Given the description of an element on the screen output the (x, y) to click on. 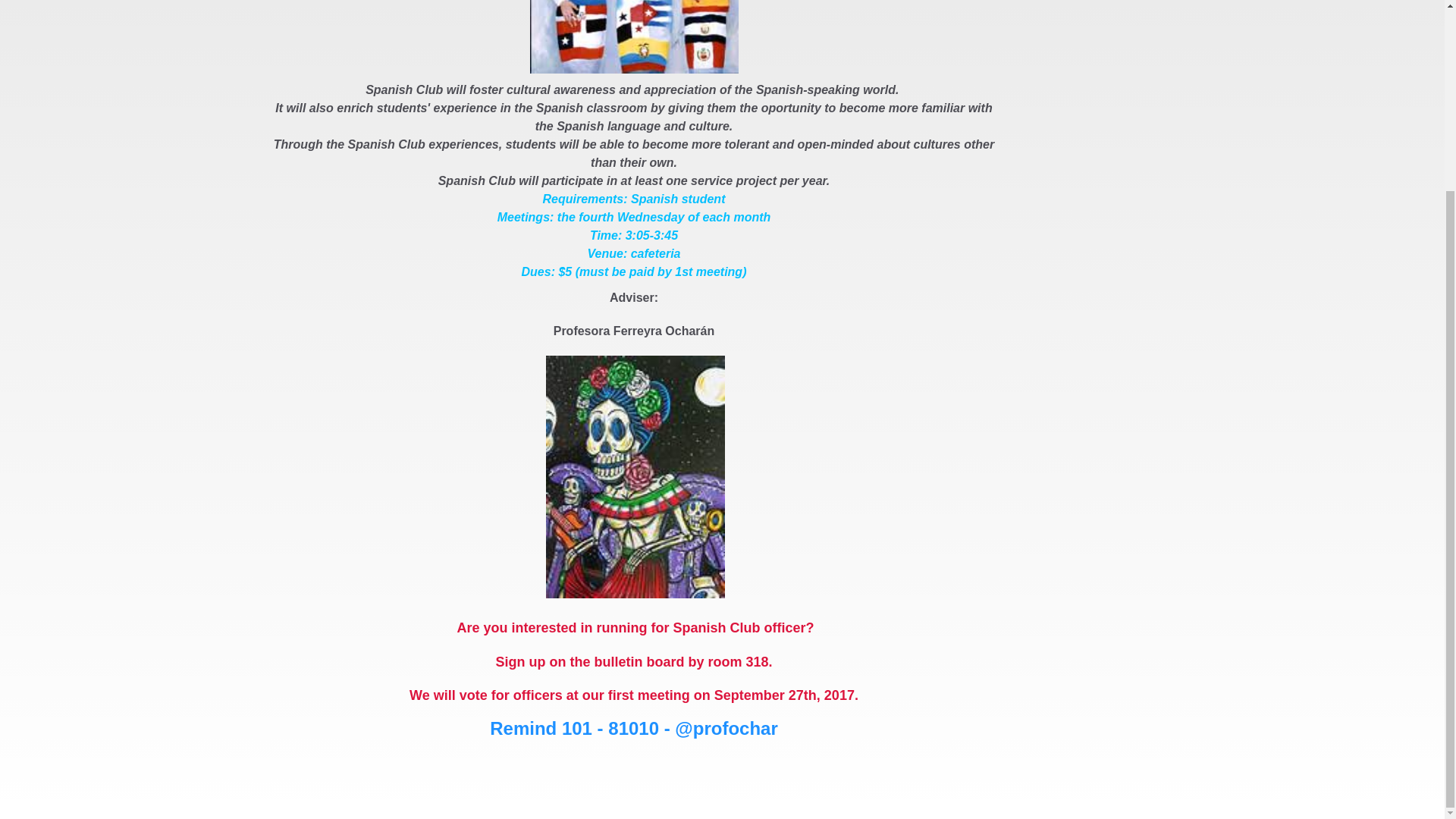
hispanos (633, 36)
